Given the description of an element on the screen output the (x, y) to click on. 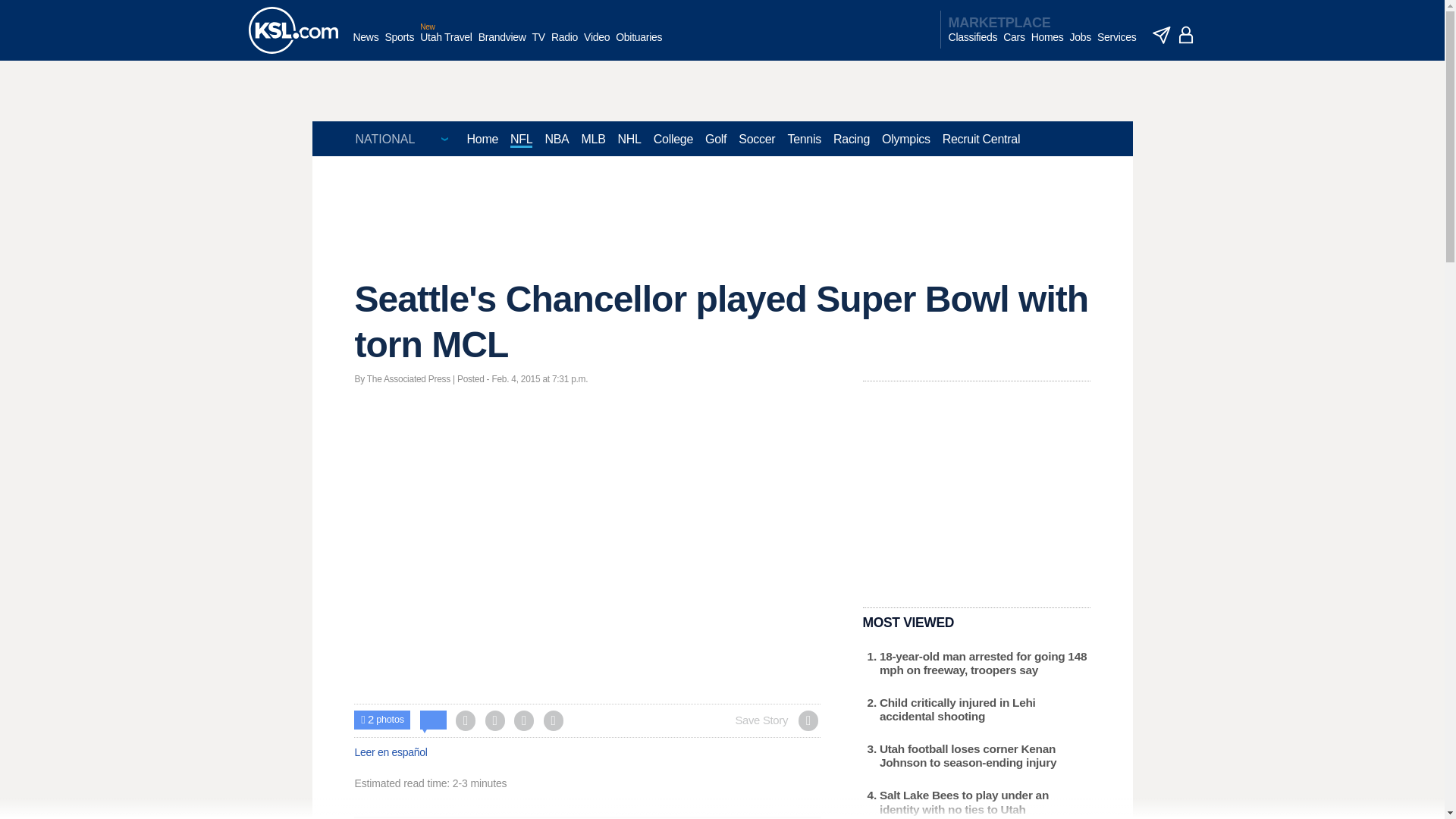
KSL homepage (292, 29)
account - logged out (1185, 34)
Utah Travel (445, 45)
Brandview (502, 45)
KSL homepage (292, 30)
Sports (398, 45)
